Given the description of an element on the screen output the (x, y) to click on. 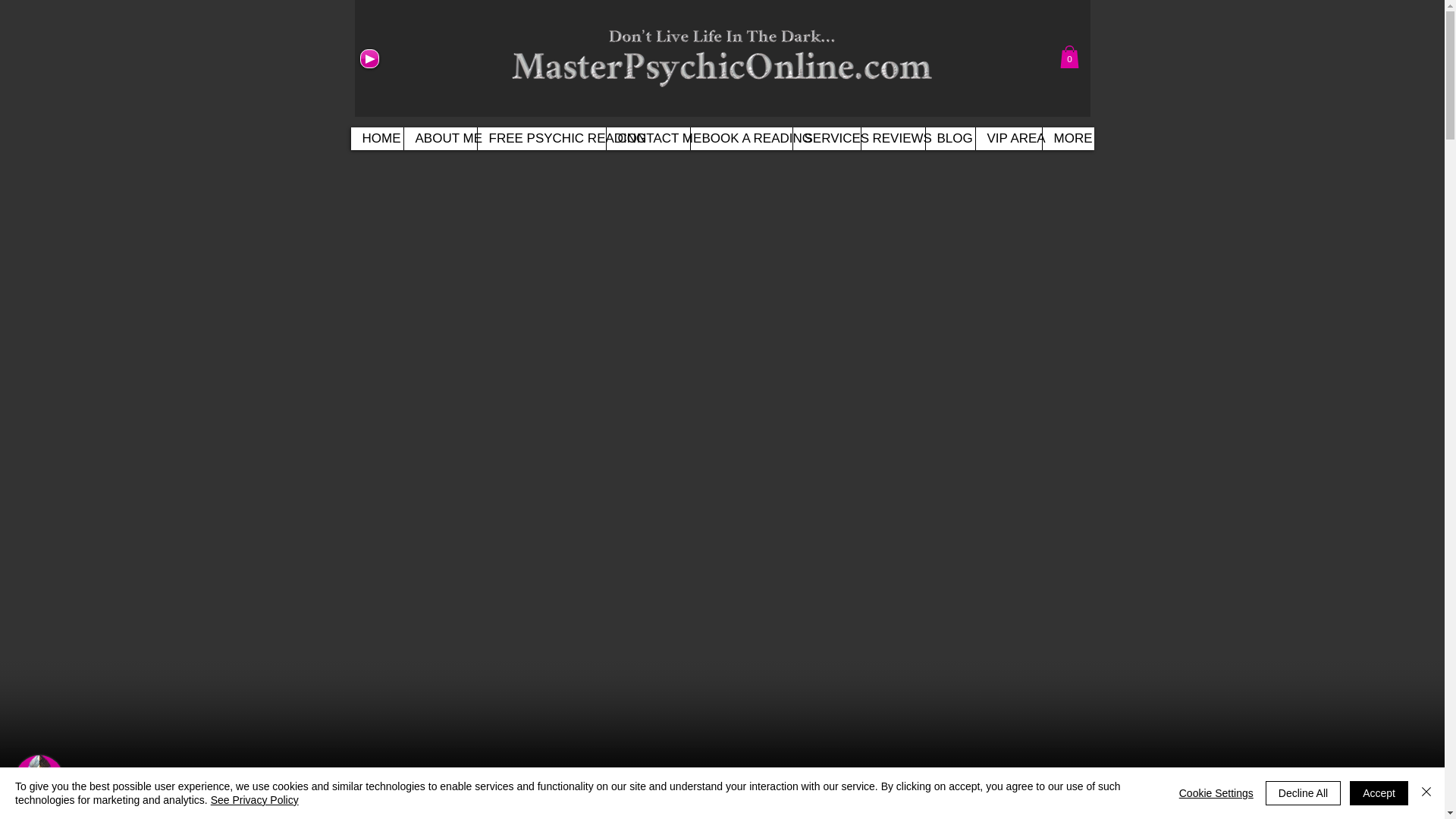
Decline All (1302, 793)
Wix Chat (35, 783)
Accept (1378, 793)
VIP AREA (1008, 138)
See Privacy Policy (254, 799)
ABOUT ME (440, 138)
HOME (376, 138)
SERVICES (826, 138)
FREE PSYCHIC READING (540, 138)
BLOG (949, 138)
CONTACT ME (646, 138)
REVIEWS (892, 138)
BOOK A READING (741, 138)
